Given the description of an element on the screen output the (x, y) to click on. 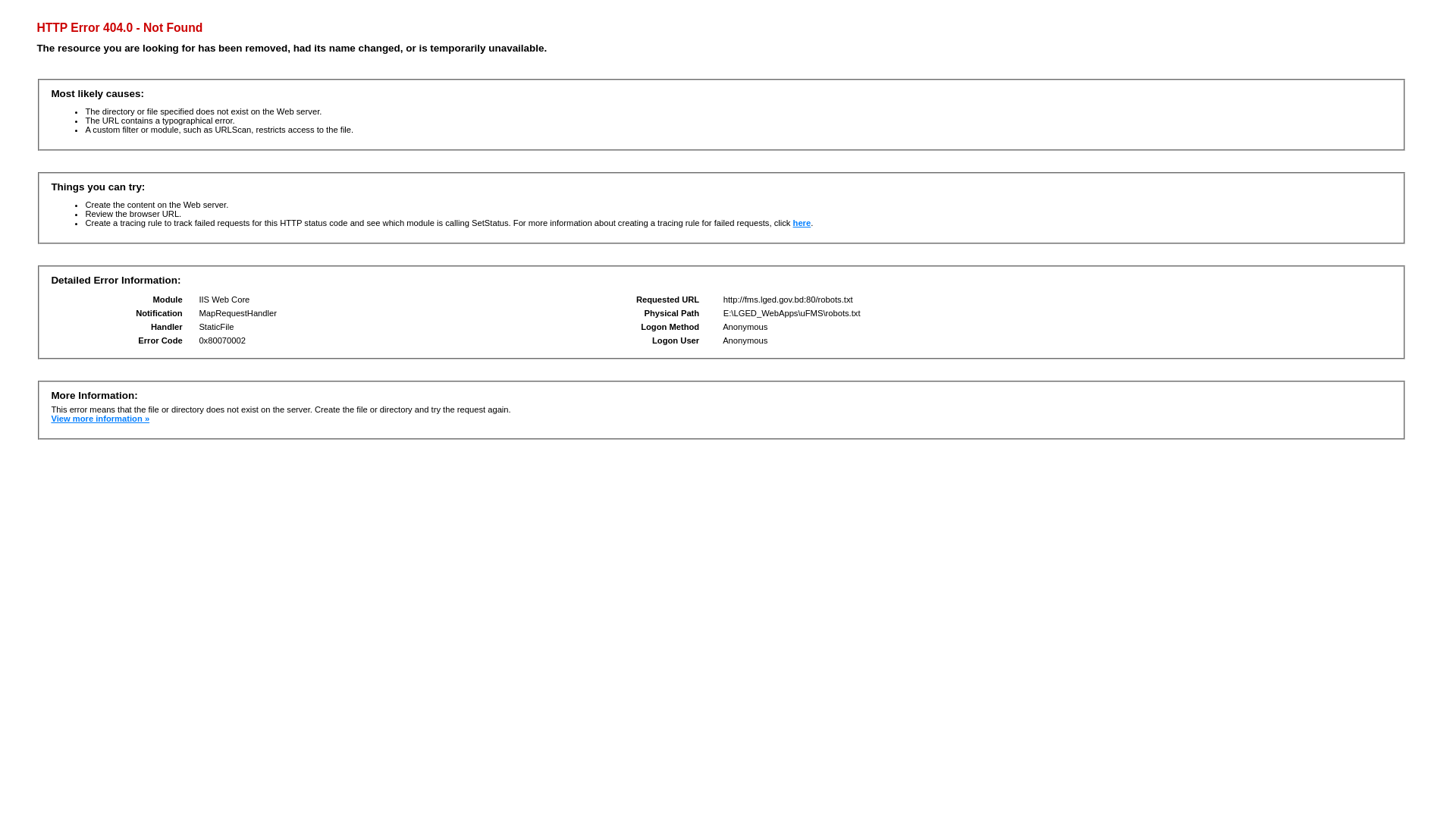
here Element type: text (802, 222)
